Given the description of an element on the screen output the (x, y) to click on. 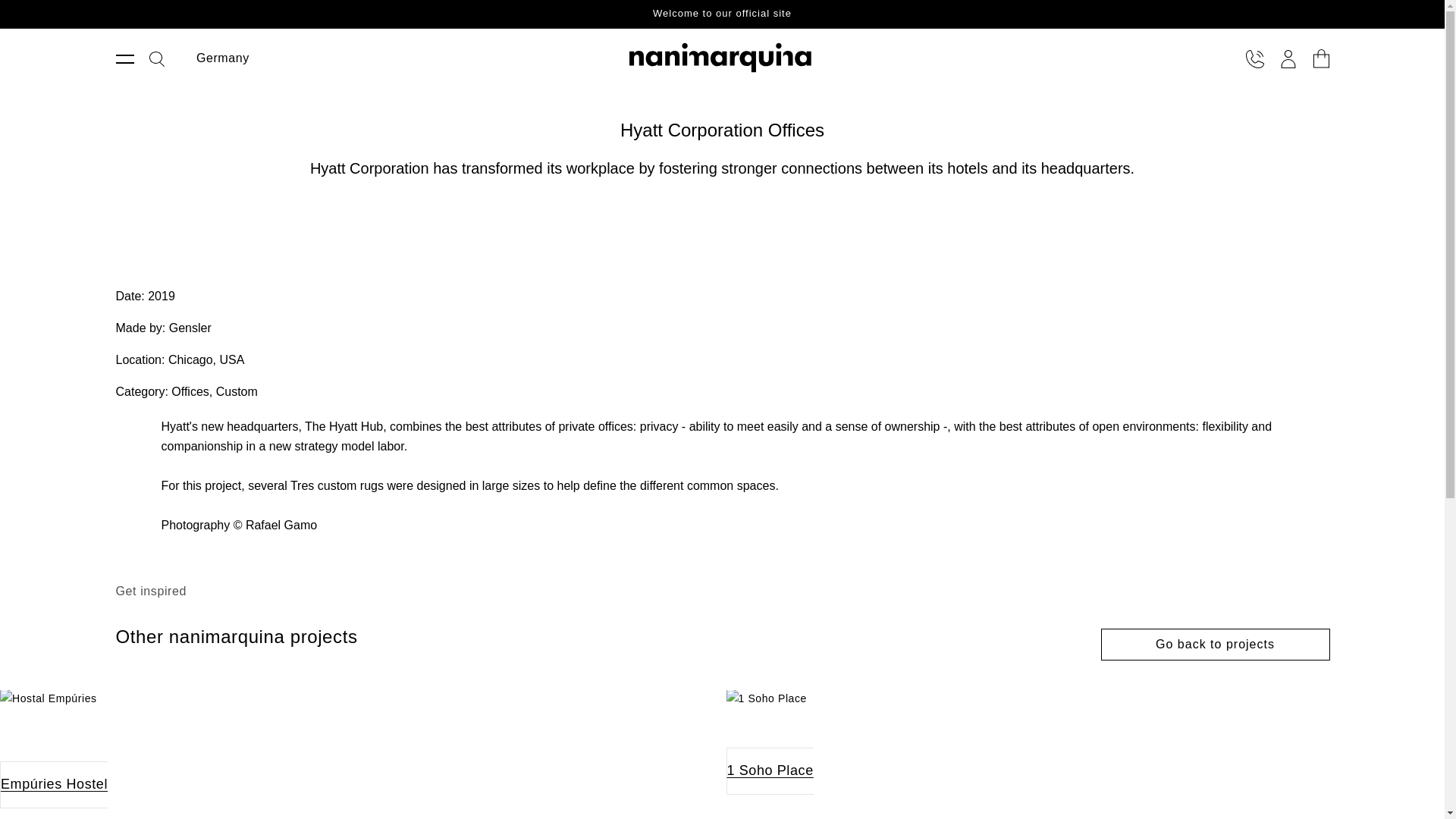
Skip to content (113, 16)
